Given the description of an element on the screen output the (x, y) to click on. 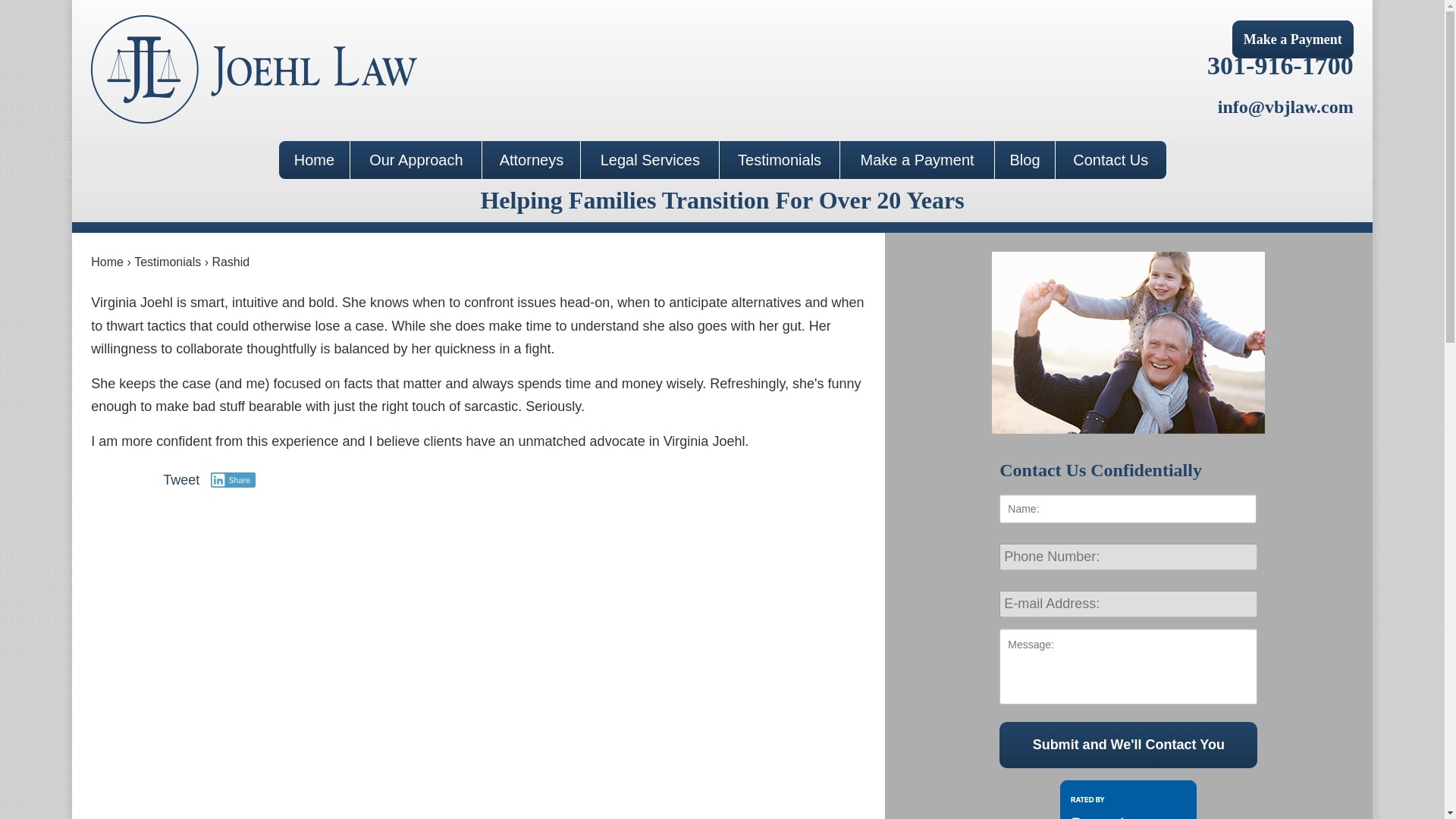
Tweet (181, 479)
Make a Payment (1292, 39)
Legal Services (649, 159)
Our Approach (415, 159)
Contact Us (1110, 159)
Make a Payment (917, 159)
Home (106, 261)
Submit and We'll Contact You (1127, 744)
Home (314, 159)
Blog (1024, 159)
Share (233, 479)
Submit and We'll Contact You (1127, 744)
Testimonials (779, 159)
301-916-1700 (1280, 65)
Email (1285, 107)
